Given the description of an element on the screen output the (x, y) to click on. 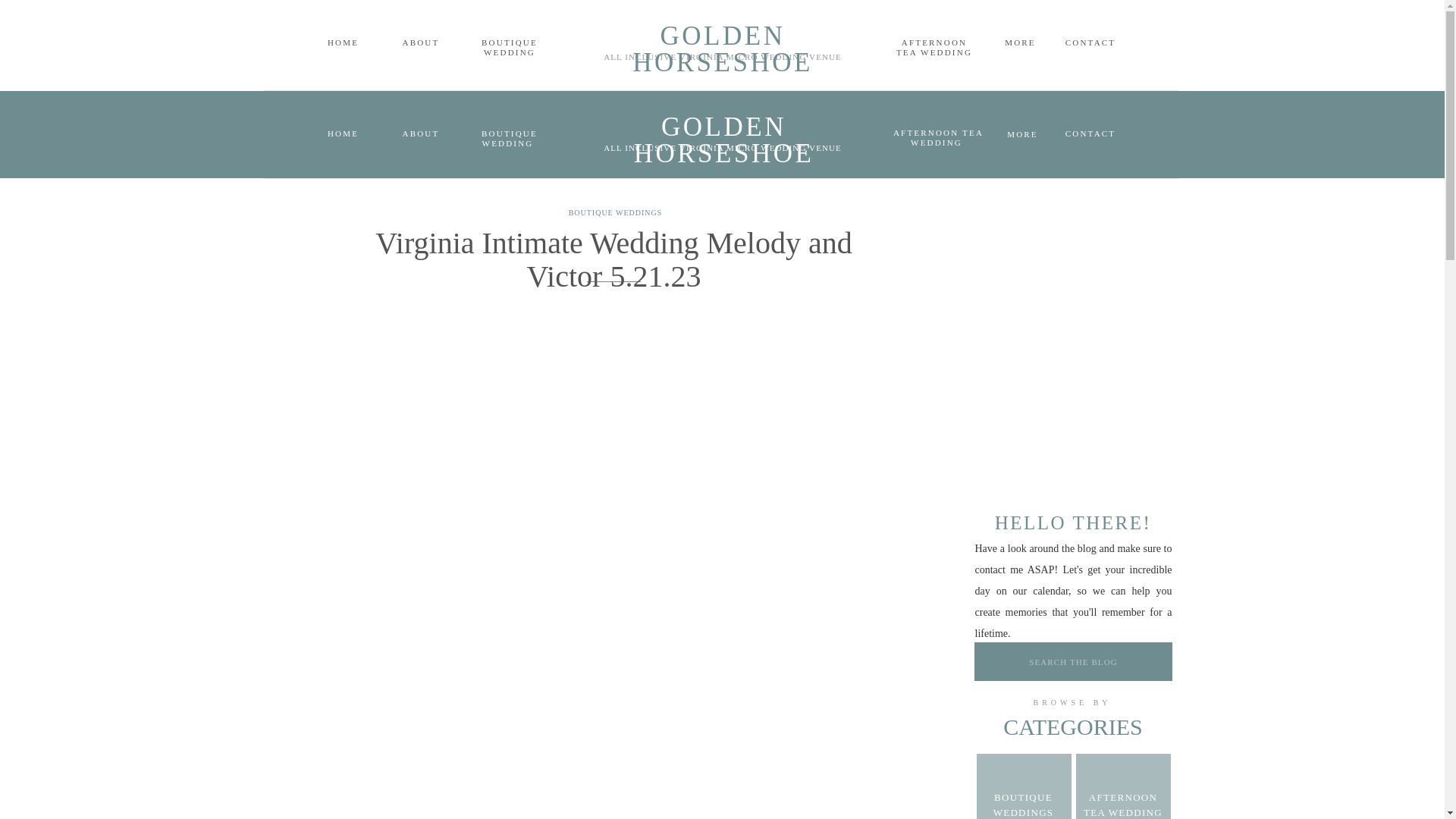
AFTERNOON TEA WEDDING (933, 46)
ABOUT (420, 133)
BOUTIQUE WEDDING  (509, 138)
MORE (1022, 133)
CONTACT (1090, 134)
GOLDEN HORSESHOE (722, 34)
AFTERNOON TEA WEDDING  (937, 138)
CONTACT (1090, 43)
MORE (1020, 41)
ABOUT (420, 41)
